Given the description of an element on the screen output the (x, y) to click on. 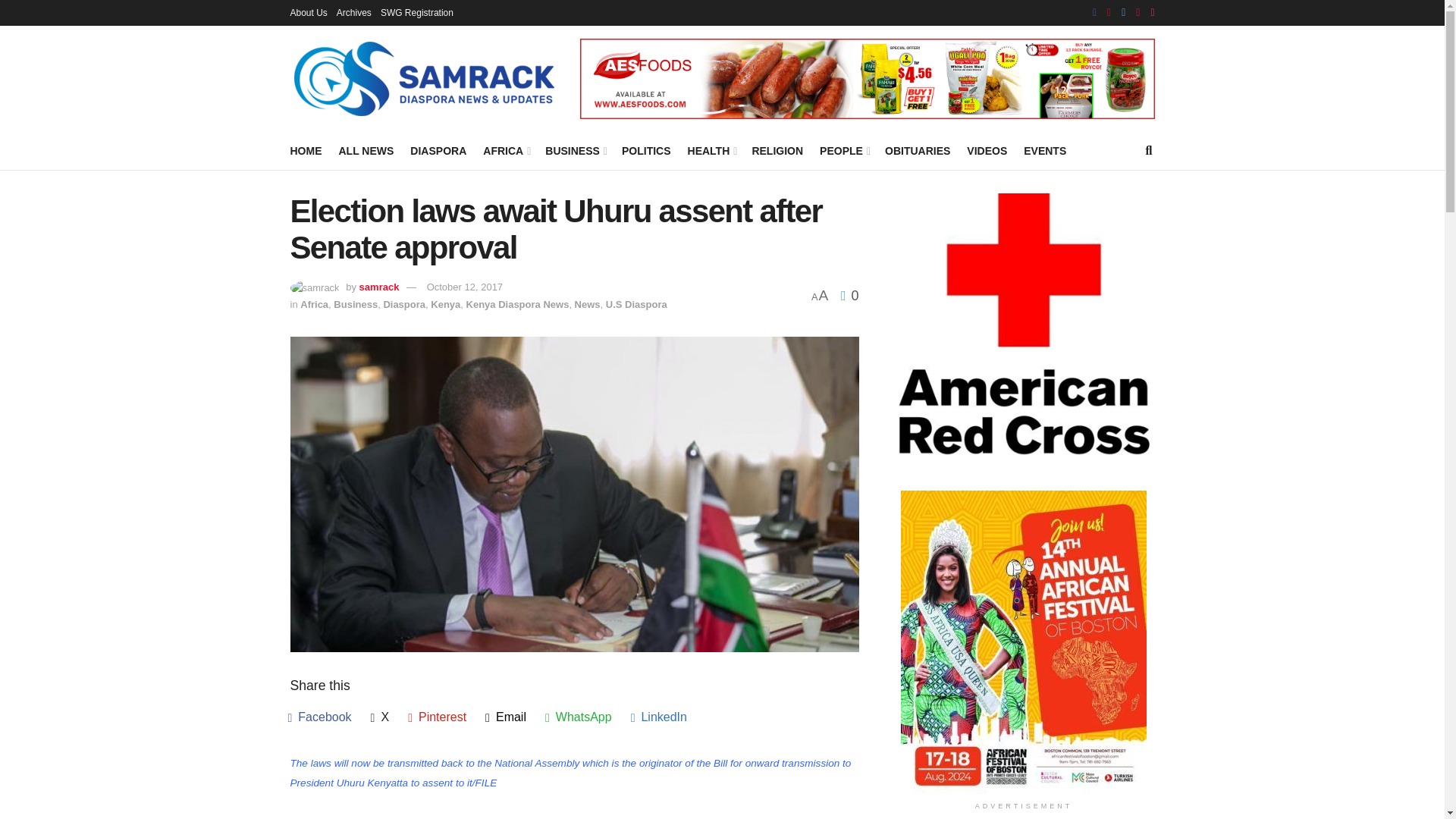
HOME (305, 150)
AFRICA (505, 150)
ALL NEWS (365, 150)
HEALTH (711, 150)
RELIGION (777, 150)
Archives (353, 12)
EVENTS (1044, 150)
PEOPLE (843, 150)
POLITICS (646, 150)
OBITUARIES (917, 150)
DIASPORA (437, 150)
SWG Registration (416, 12)
VIDEOS (986, 150)
BUSINESS (574, 150)
About Us (307, 12)
